Given the description of an element on the screen output the (x, y) to click on. 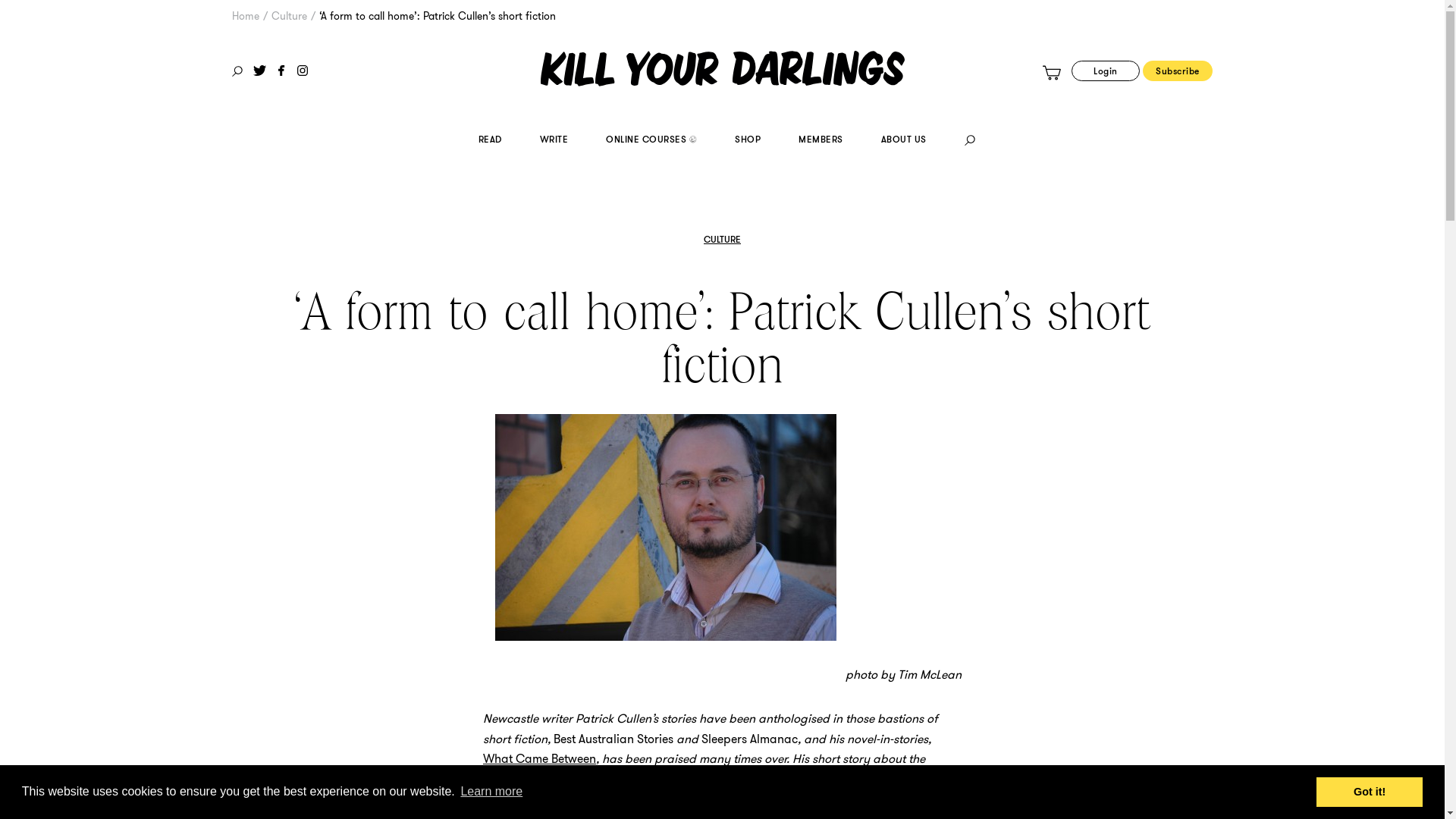
Twitter Element type: hover (259, 70)
MEMBERS Element type: text (820, 140)
SHOP Element type: text (747, 140)
Culture Element type: text (289, 15)
Instagram Element type: hover (302, 70)
READ Element type: text (489, 140)
Subscribe Element type: text (1177, 70)
CULTURE Element type: text (721, 238)
View your shopping cart Element type: hover (1051, 72)
WRITE Element type: text (553, 140)
Home Element type: text (245, 15)
What Came Between Element type: text (539, 758)
ABOUT US Element type: text (903, 140)
Learn more Element type: text (491, 791)
Facebook Element type: hover (281, 70)
Login Element type: text (1105, 70)
Patrick Cullen (photo by Tim McLean) Element type: hover (665, 527)
Got it! Element type: text (1369, 791)
